Given the description of an element on the screen output the (x, y) to click on. 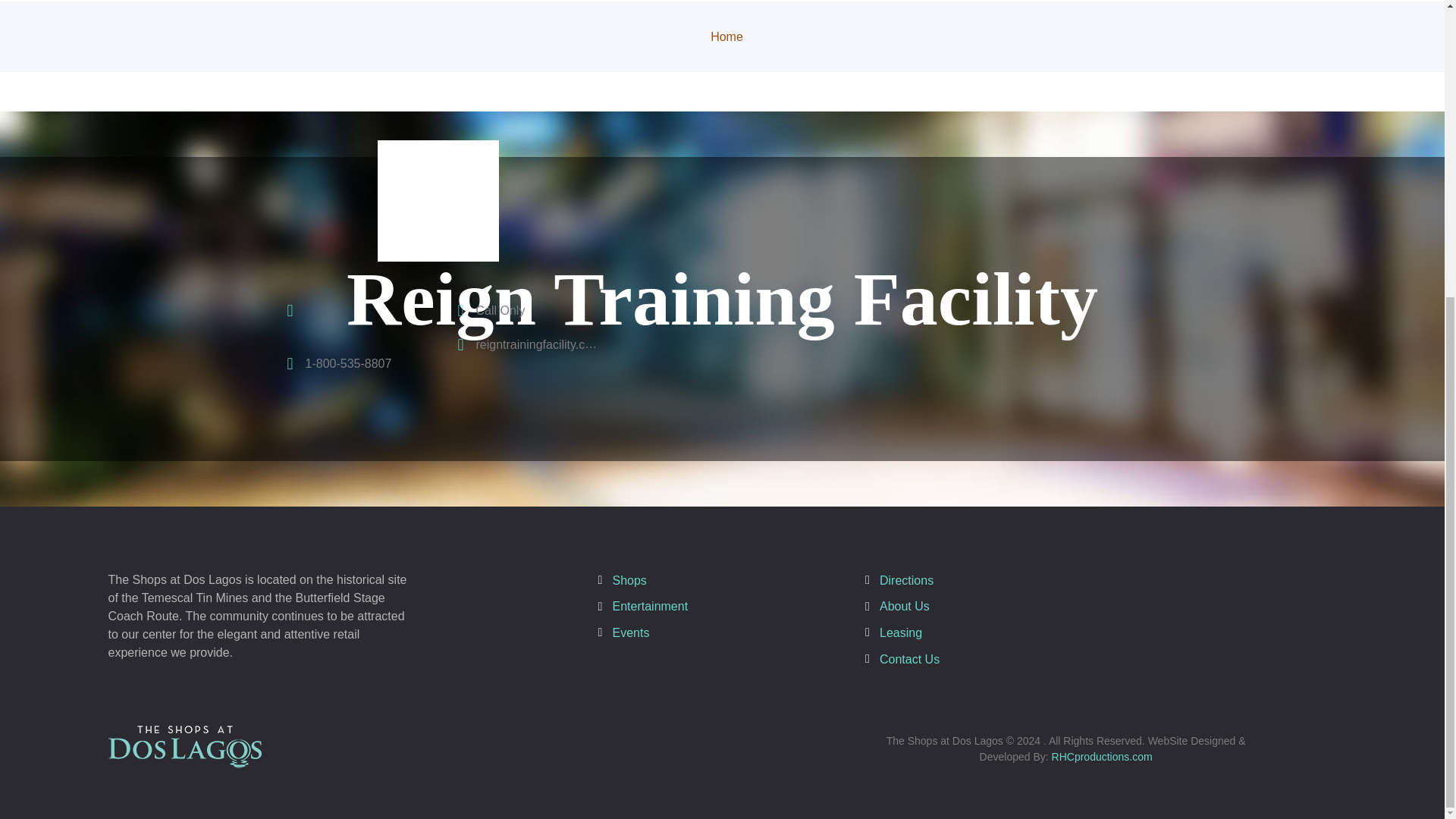
Home (726, 36)
1-800-535-8807 (335, 363)
Call Only (487, 310)
reigntrainingfacility.com (522, 344)
